Given the description of an element on the screen output the (x, y) to click on. 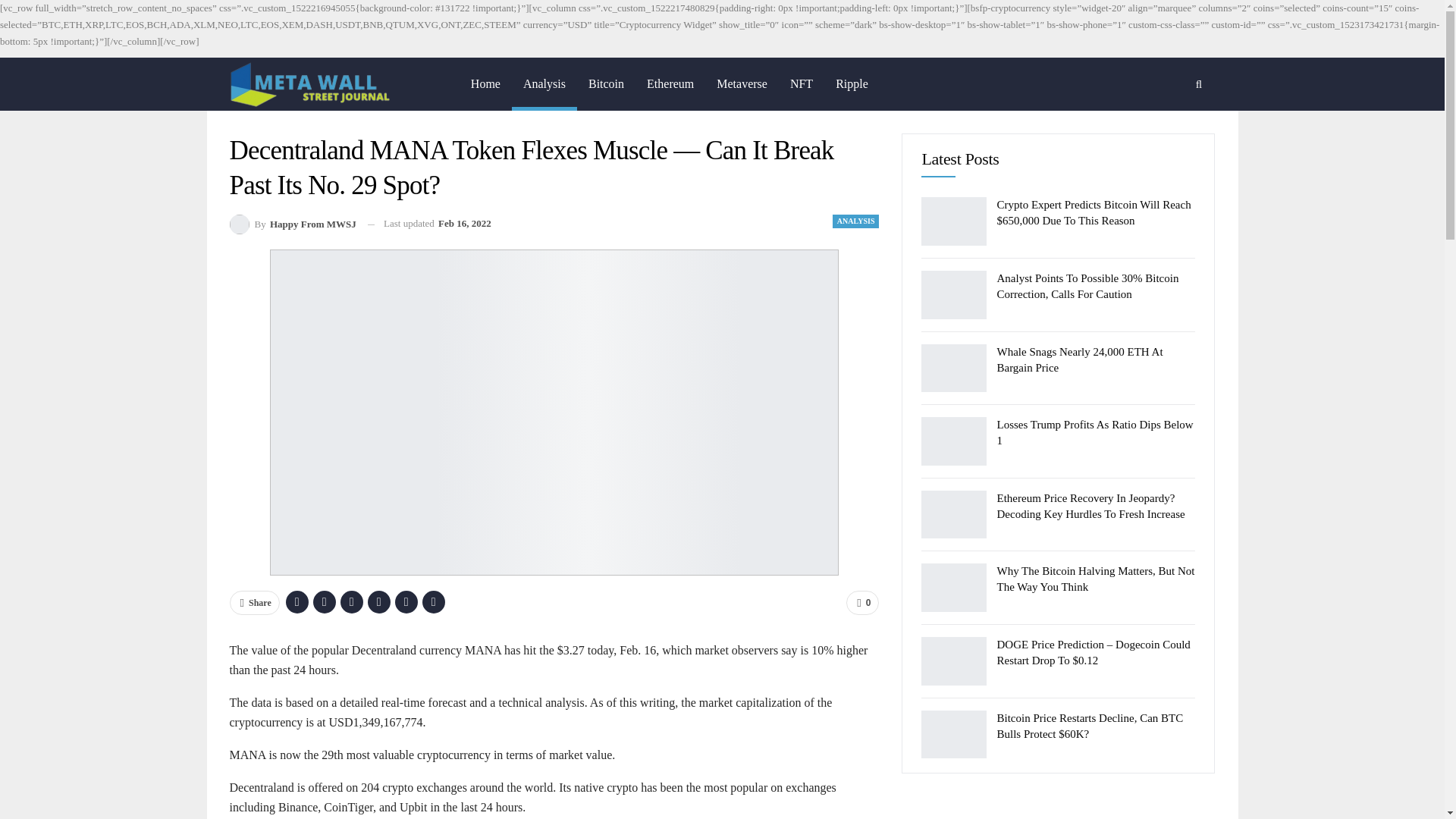
Bitcoin (605, 83)
Ethereum (669, 83)
By Happy From MWSJ (291, 223)
ANALYSIS (855, 221)
Home (486, 83)
Analysis (544, 83)
Ripple (851, 83)
Browse Author Articles (291, 223)
0 (862, 602)
Metaverse (741, 83)
